Given the description of an element on the screen output the (x, y) to click on. 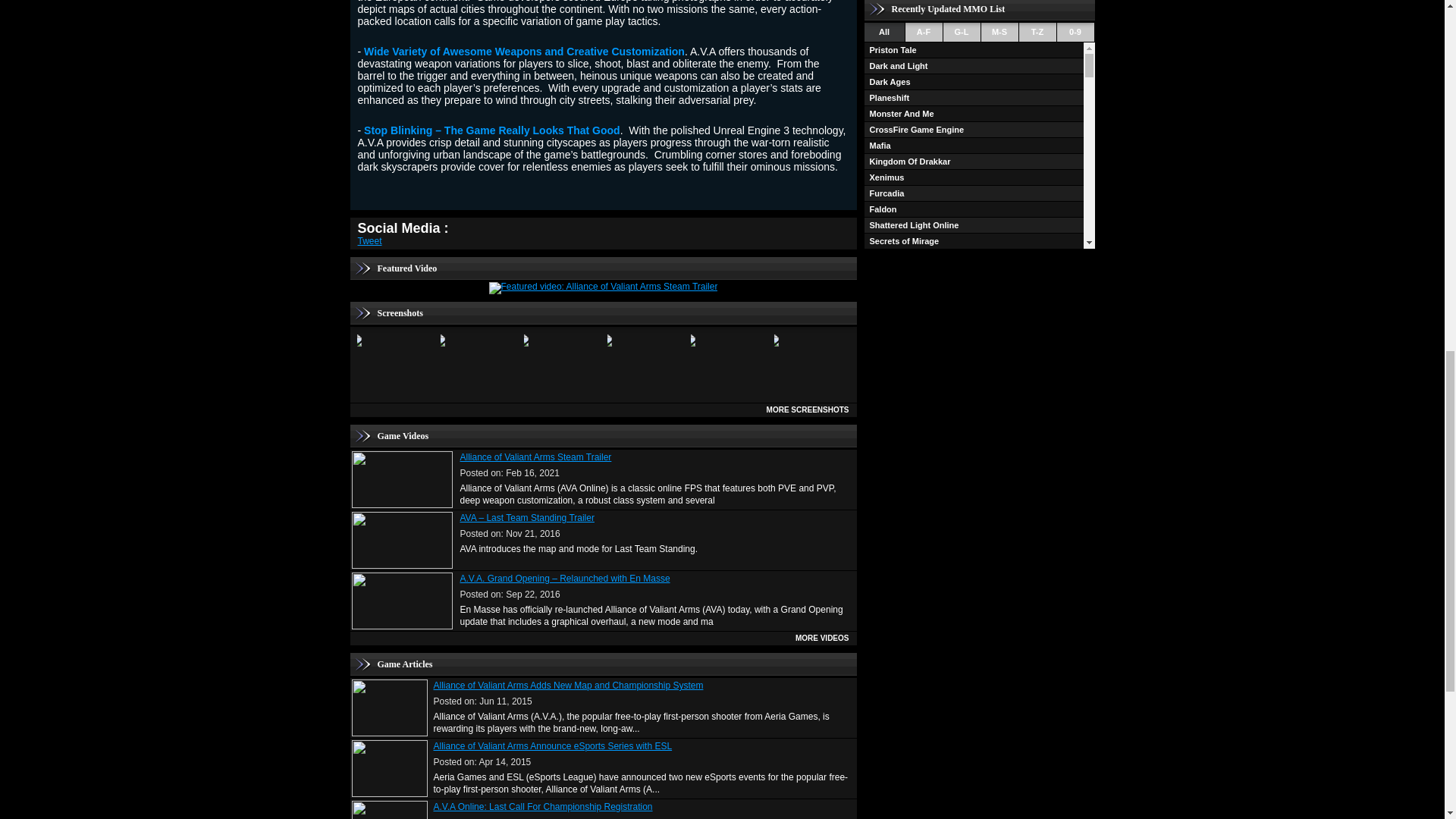
Alliance of Valiant Arms Steam Trailer (535, 457)
Tweet (369, 240)
Alliance of Valiant Arms Steam Trailer (603, 286)
